Given the description of an element on the screen output the (x, y) to click on. 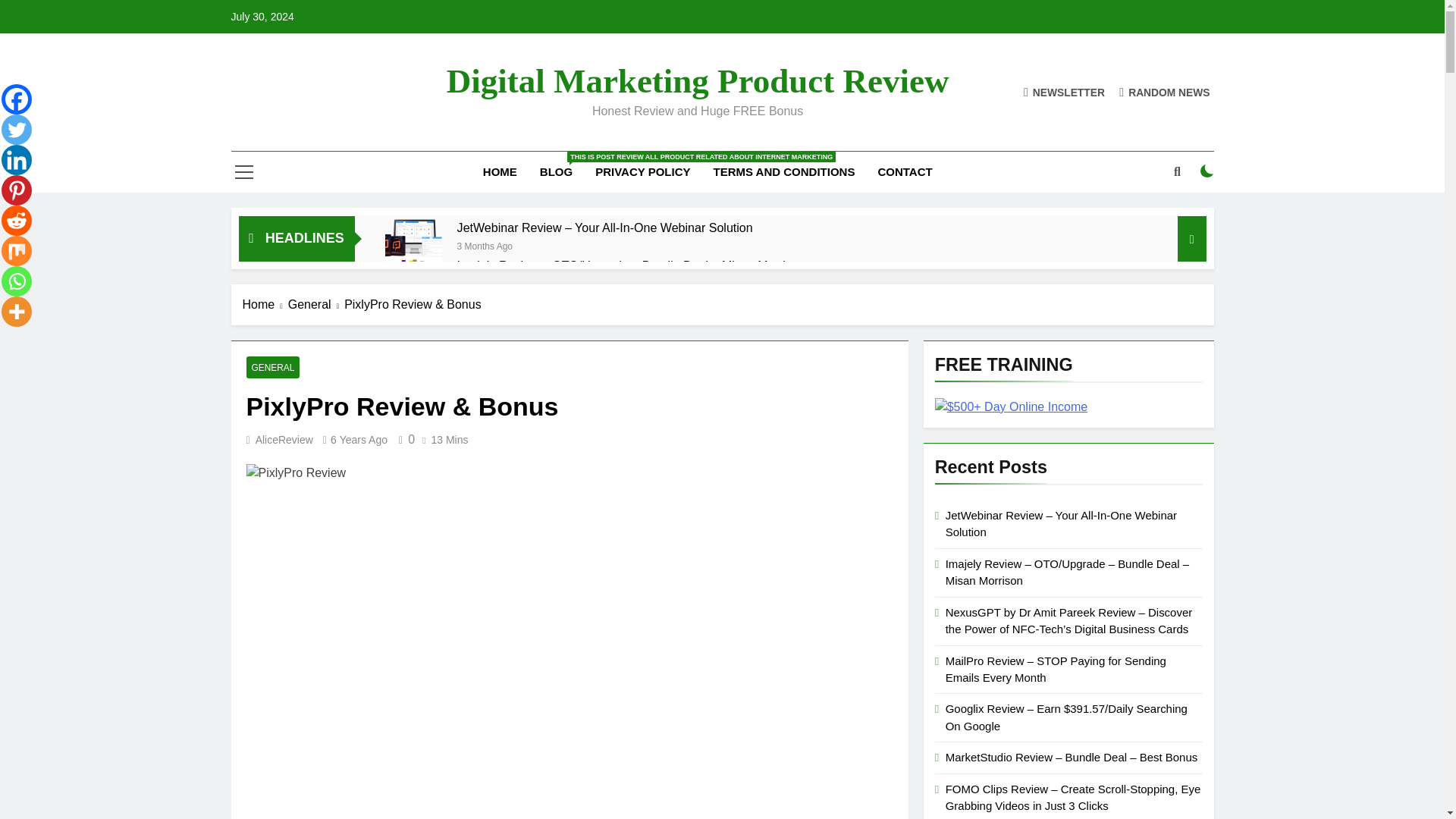
Digital Marketing Product Review (697, 80)
HOME (499, 171)
Home (265, 304)
CONTACT (904, 171)
PRIVACY POLICY (642, 171)
GENERAL (272, 367)
AliceReview (284, 439)
General (315, 304)
on (1206, 171)
